Given the description of an element on the screen output the (x, y) to click on. 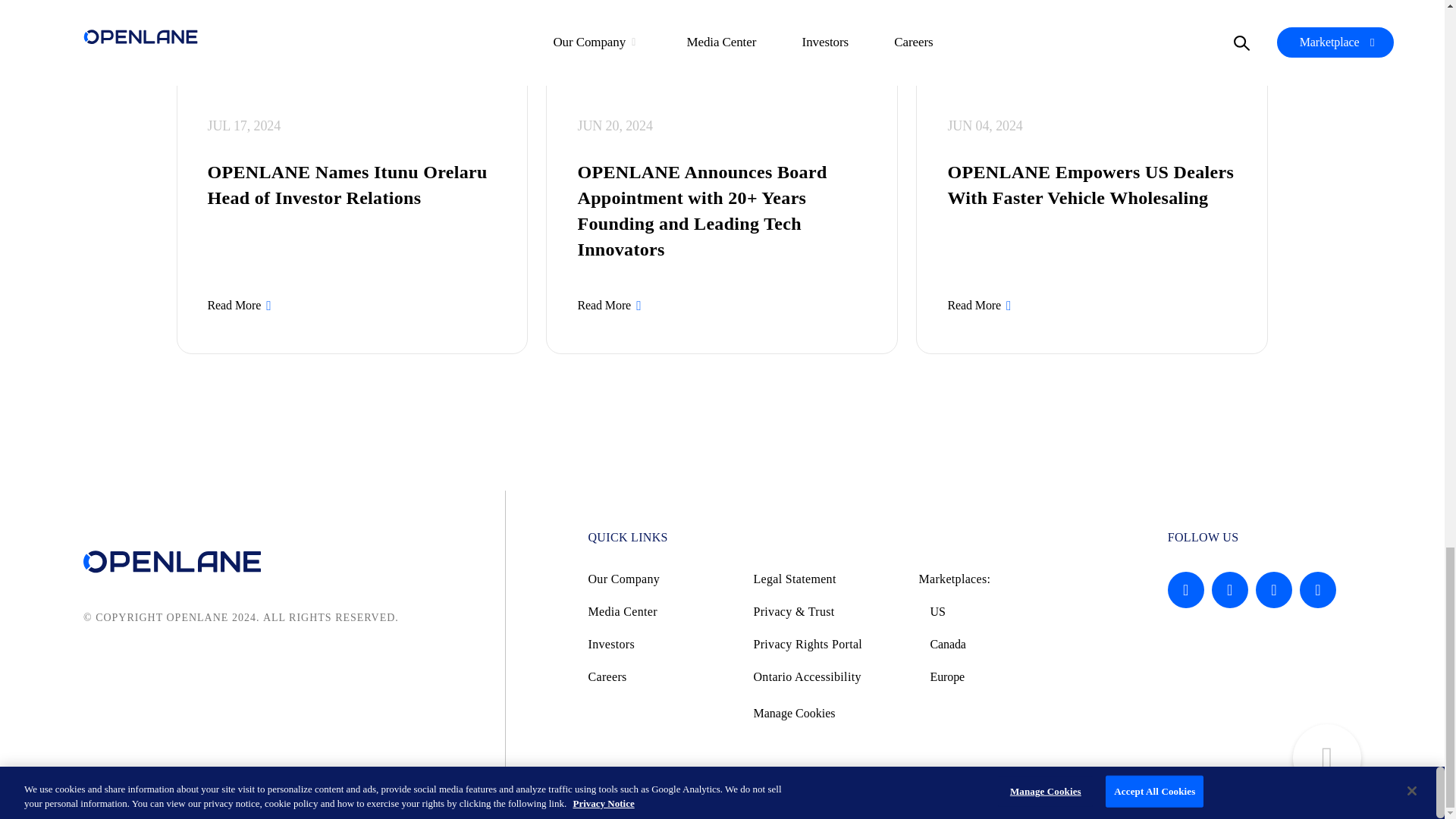
OPENLANE Empowers US Dealers With Faster Vehicle Wholesaling (1091, 184)
Read More (609, 305)
Legal Statement (825, 578)
Our Company (661, 578)
Read More (980, 305)
Careers (661, 676)
Media Center (661, 611)
Investors (661, 644)
Read More (241, 305)
OPENLANE Names Itunu Orelaru Head of Investor Relations (352, 184)
